Given the description of an element on the screen output the (x, y) to click on. 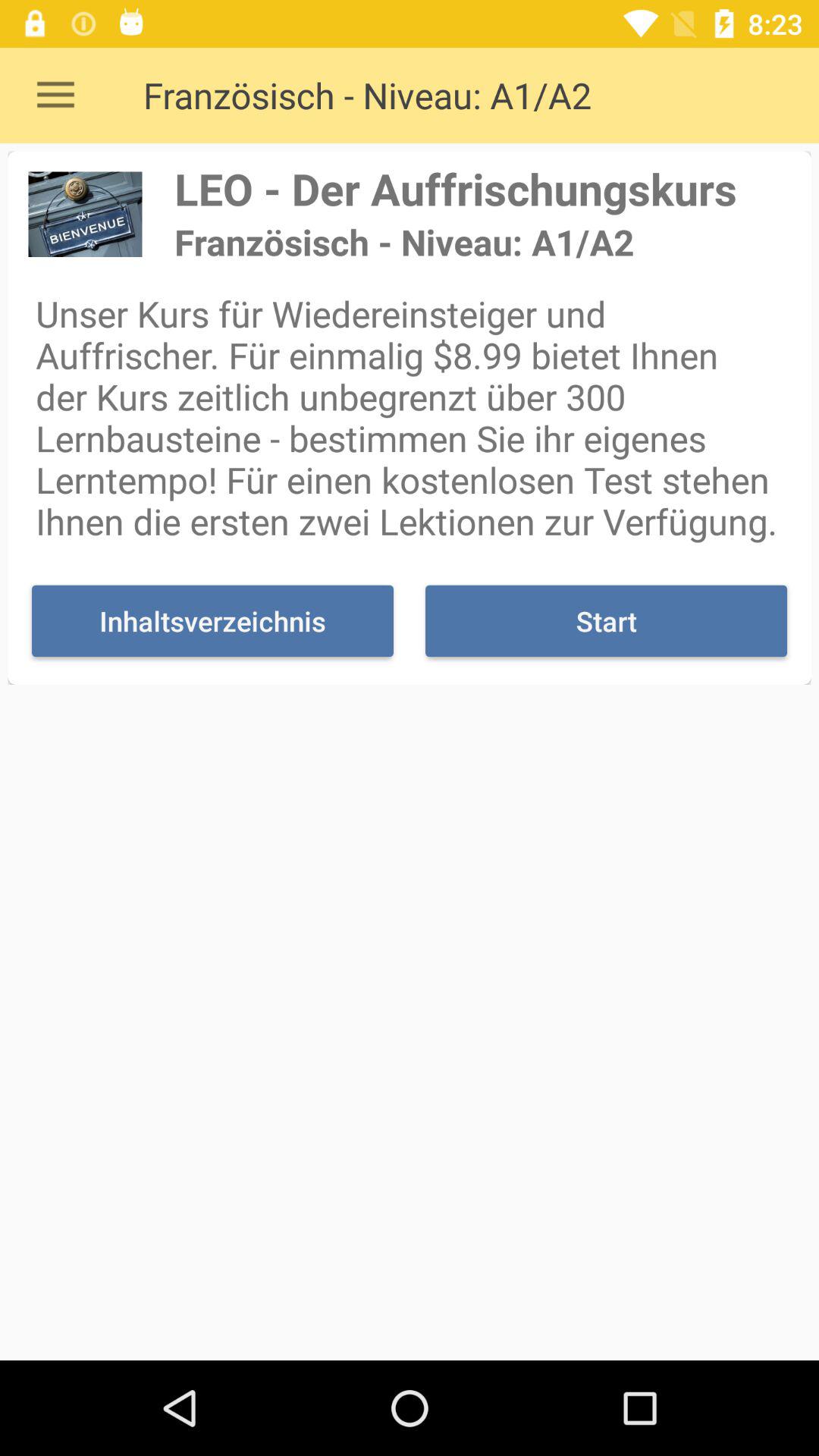
turn off icon to the left of start (212, 620)
